Given the description of an element on the screen output the (x, y) to click on. 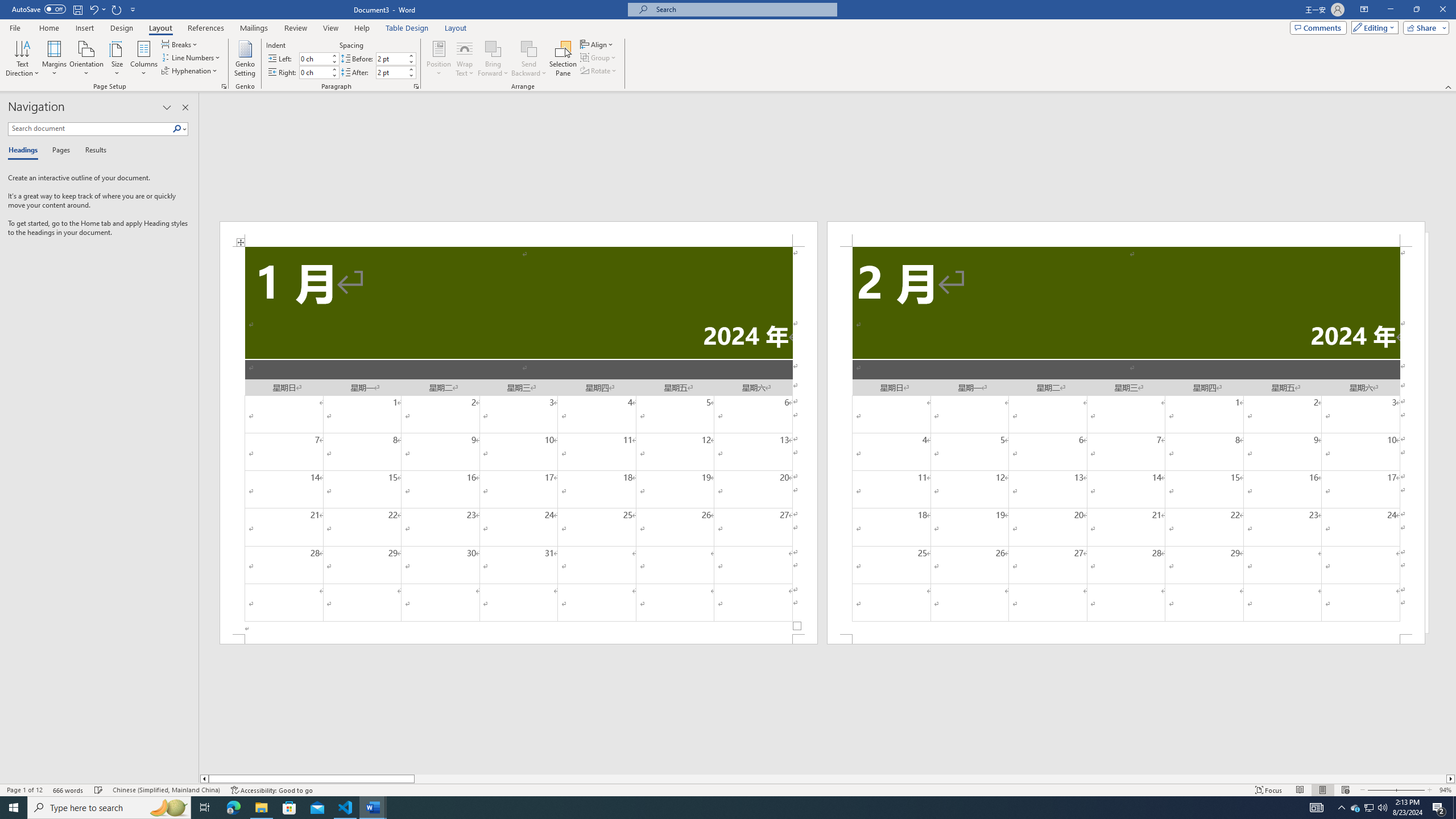
Selection Pane... (563, 58)
Footer -Section 2- (1126, 638)
Bring Forward (492, 58)
More (411, 69)
